Given the description of an element on the screen output the (x, y) to click on. 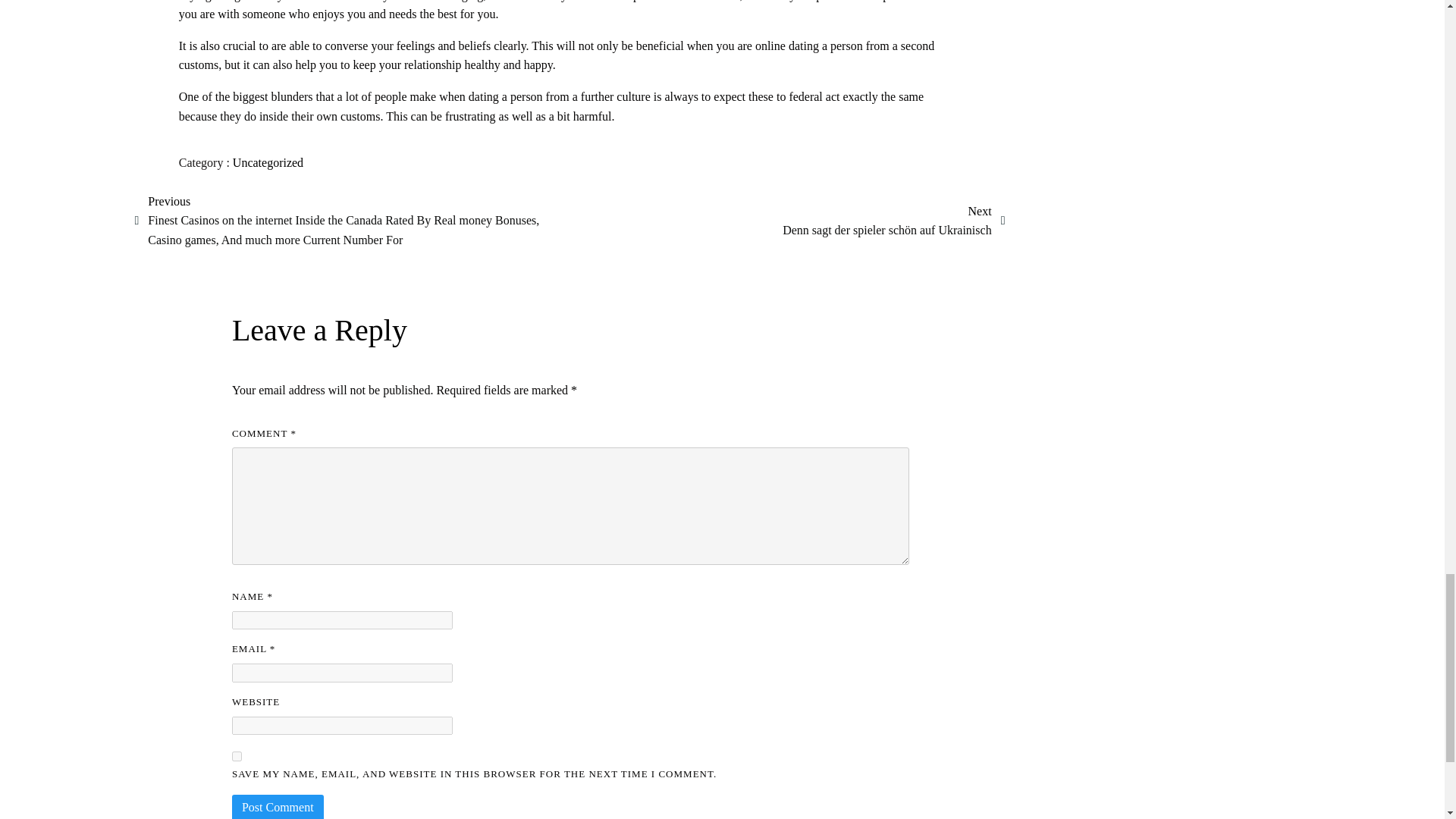
Post Comment (277, 806)
yes (236, 756)
Uncategorized (267, 162)
Post Comment (277, 806)
